Given the description of an element on the screen output the (x, y) to click on. 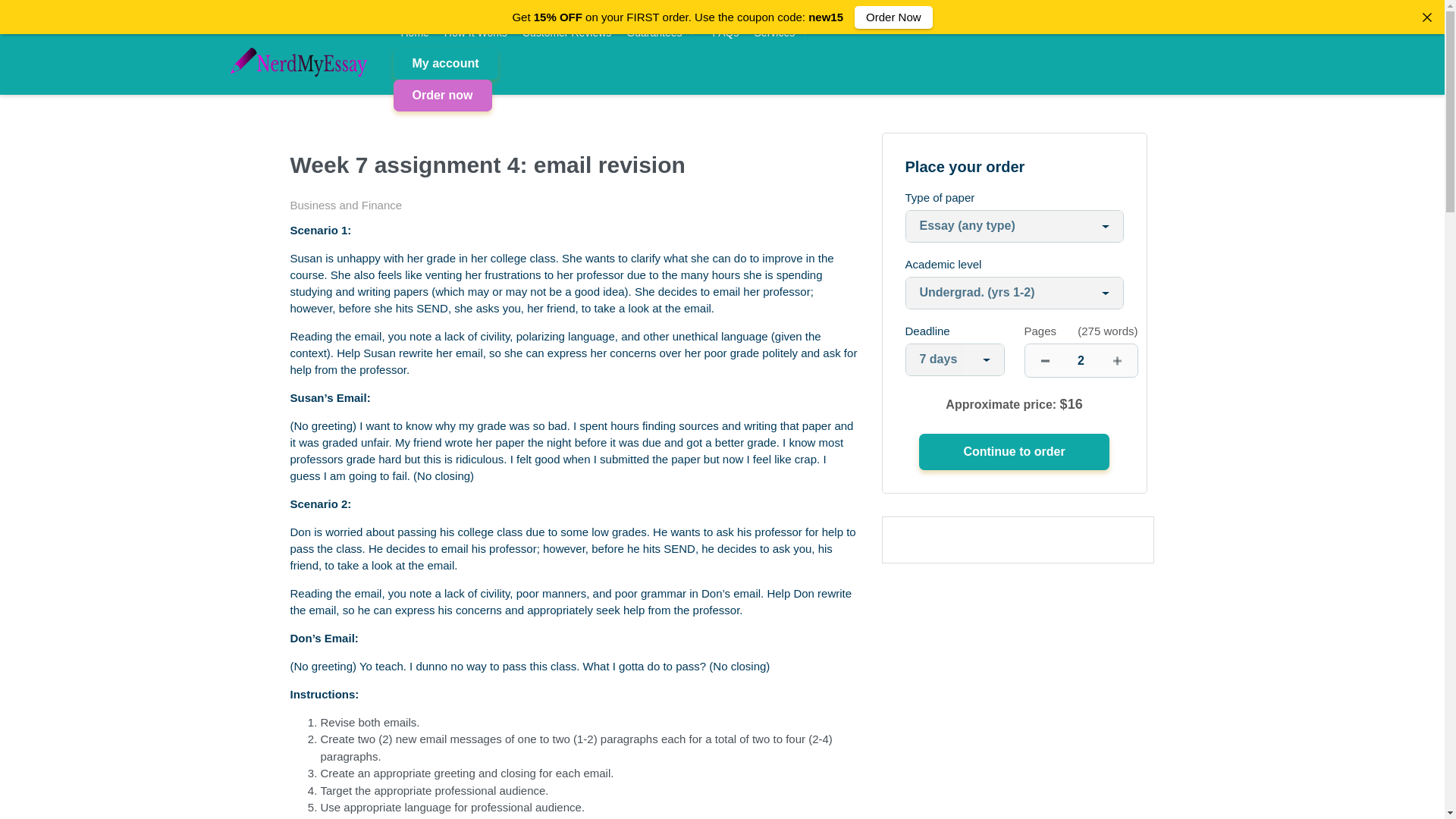
2 (1081, 359)
Services (782, 32)
Order now (442, 95)
Home (414, 32)
Guarantees (661, 32)
My account (445, 63)
Continue to order (1013, 452)
Customer Reviews (566, 32)
Business and Finance (345, 205)
Continue to order (1013, 452)
How It Works (475, 32)
FAQs (725, 32)
